Given the description of an element on the screen output the (x, y) to click on. 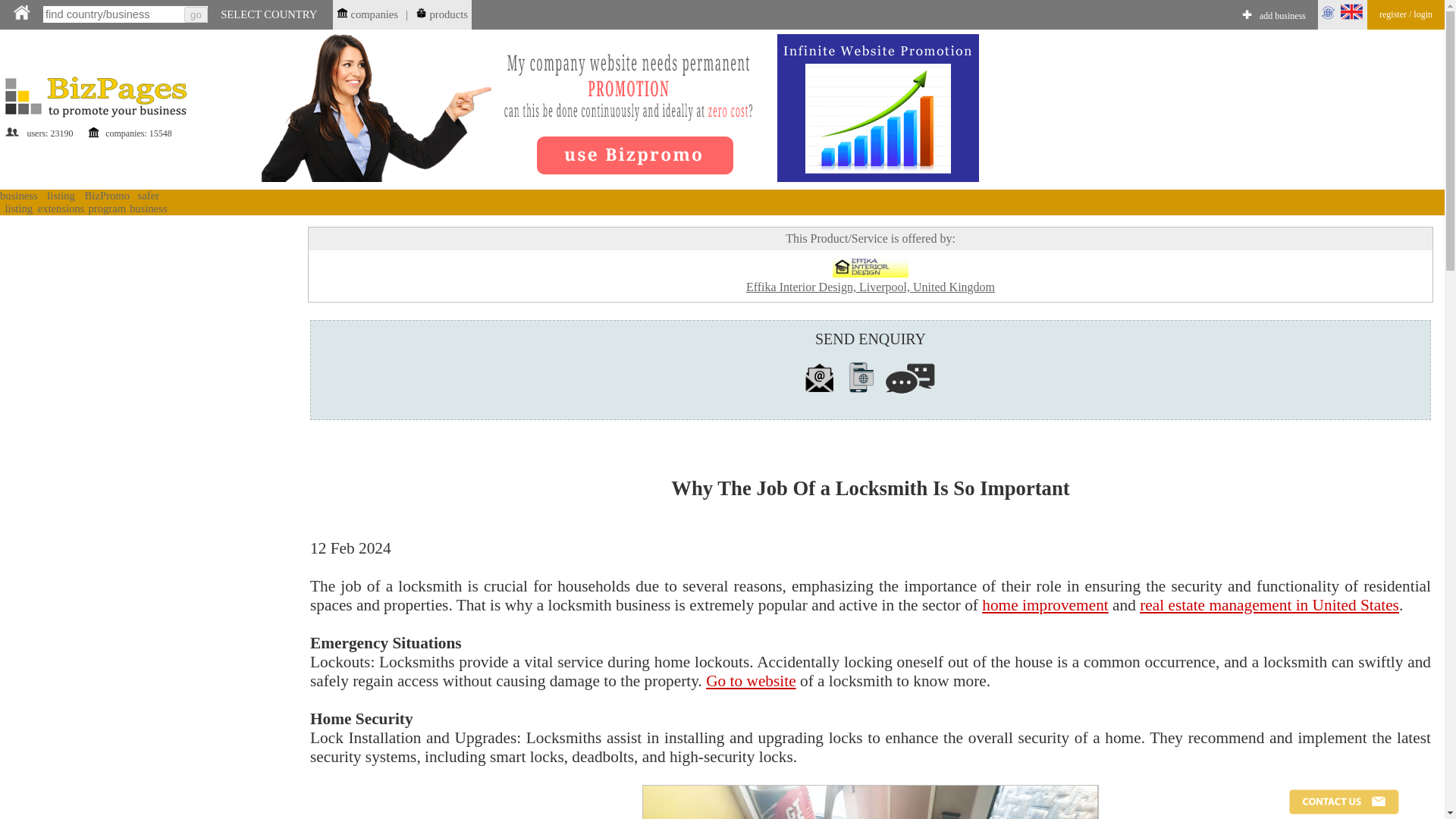
go (196, 14)
safer business (148, 201)
listing extensions (60, 201)
BizPromo program (106, 201)
SELECT COUNTRY (269, 14)
home (20, 12)
business listing (18, 201)
add business (1282, 16)
